Given the description of an element on the screen output the (x, y) to click on. 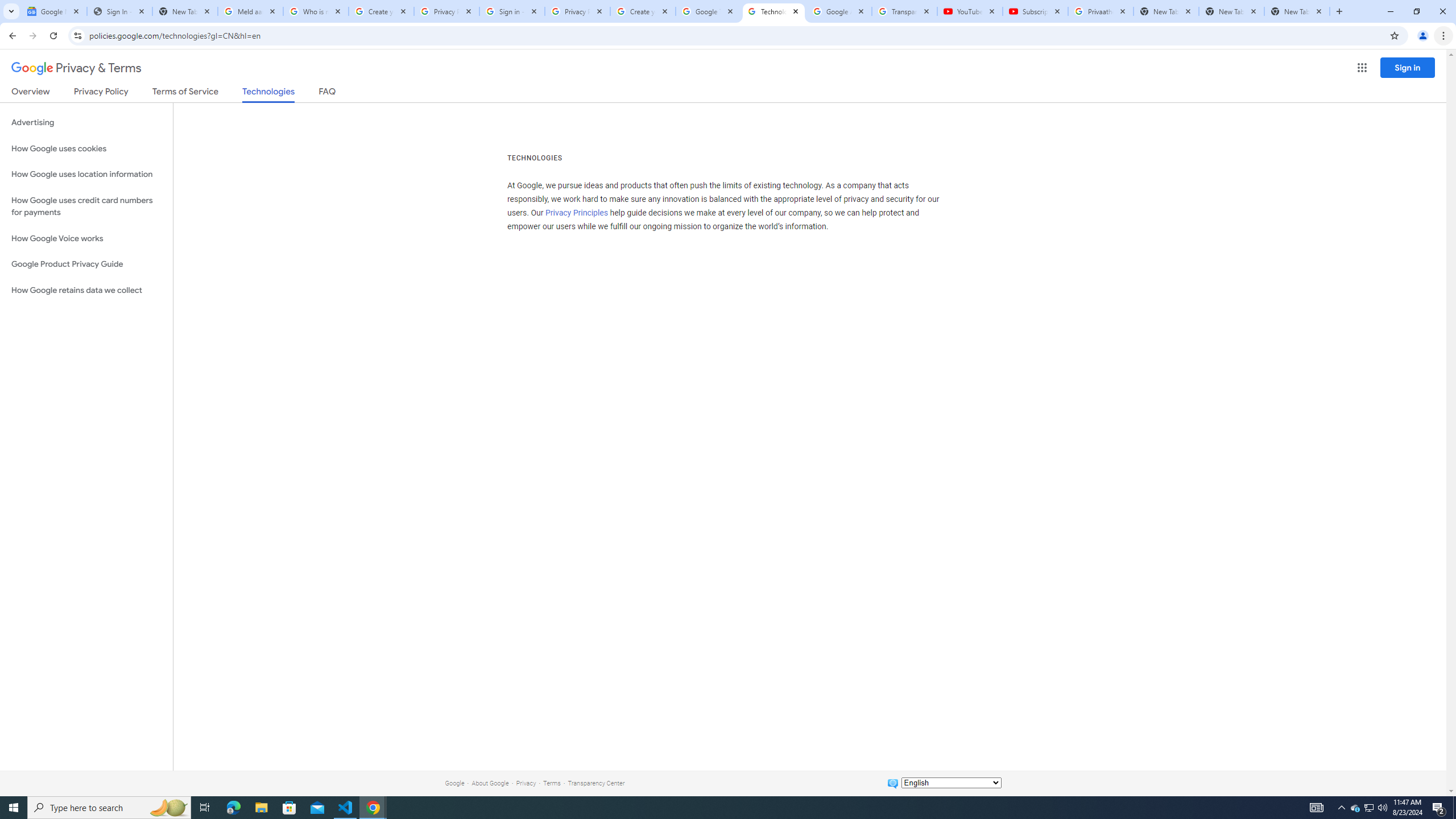
Google Product Privacy Guide (86, 264)
Technologies (268, 94)
YouTube (969, 11)
Google News (53, 11)
How Google retains data we collect (86, 289)
How Google uses location information (86, 174)
How Google Voice works (86, 238)
Sign in - Google Accounts (512, 11)
